Given the description of an element on the screen output the (x, y) to click on. 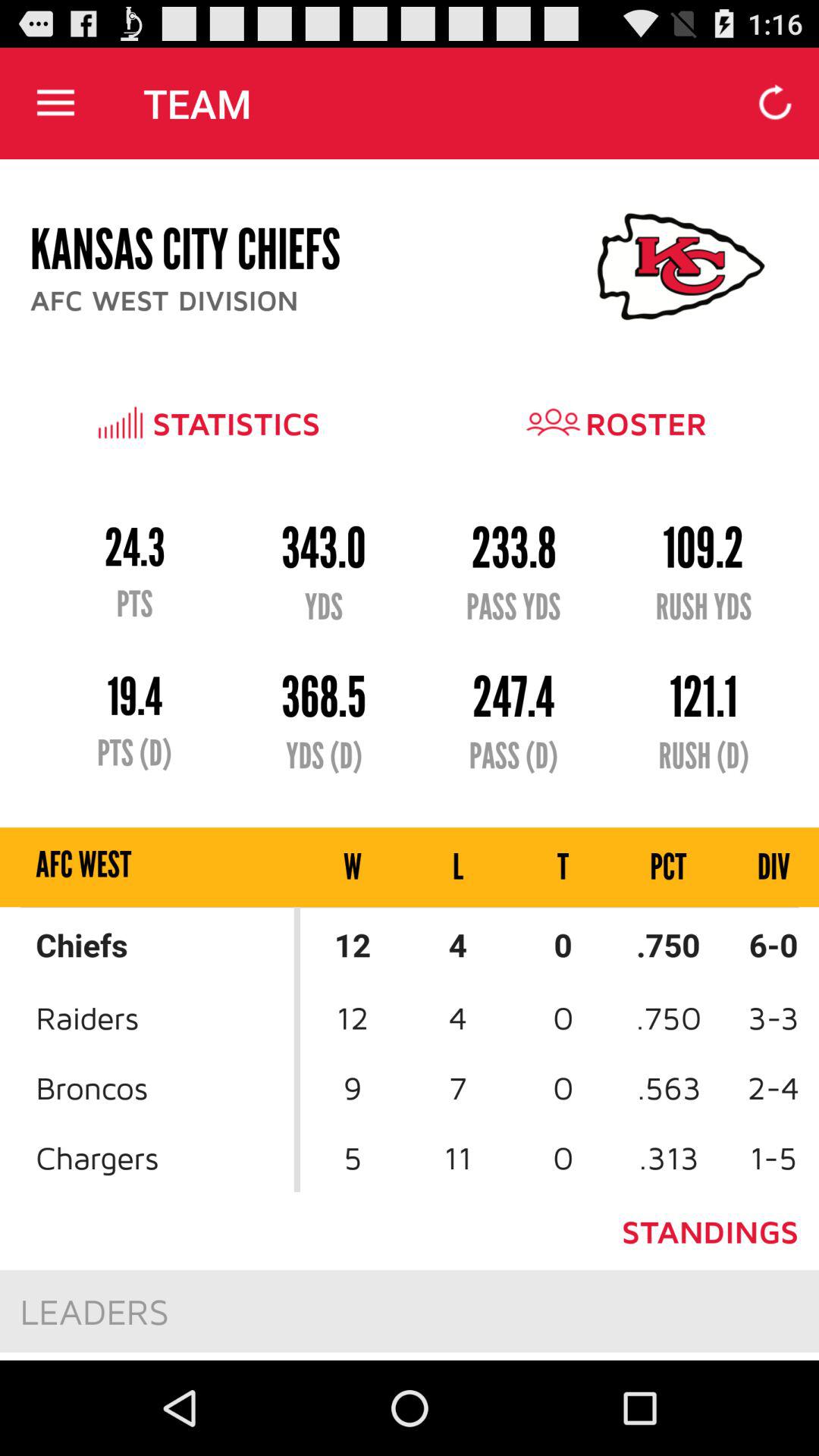
jump until the w icon (352, 867)
